Given the description of an element on the screen output the (x, y) to click on. 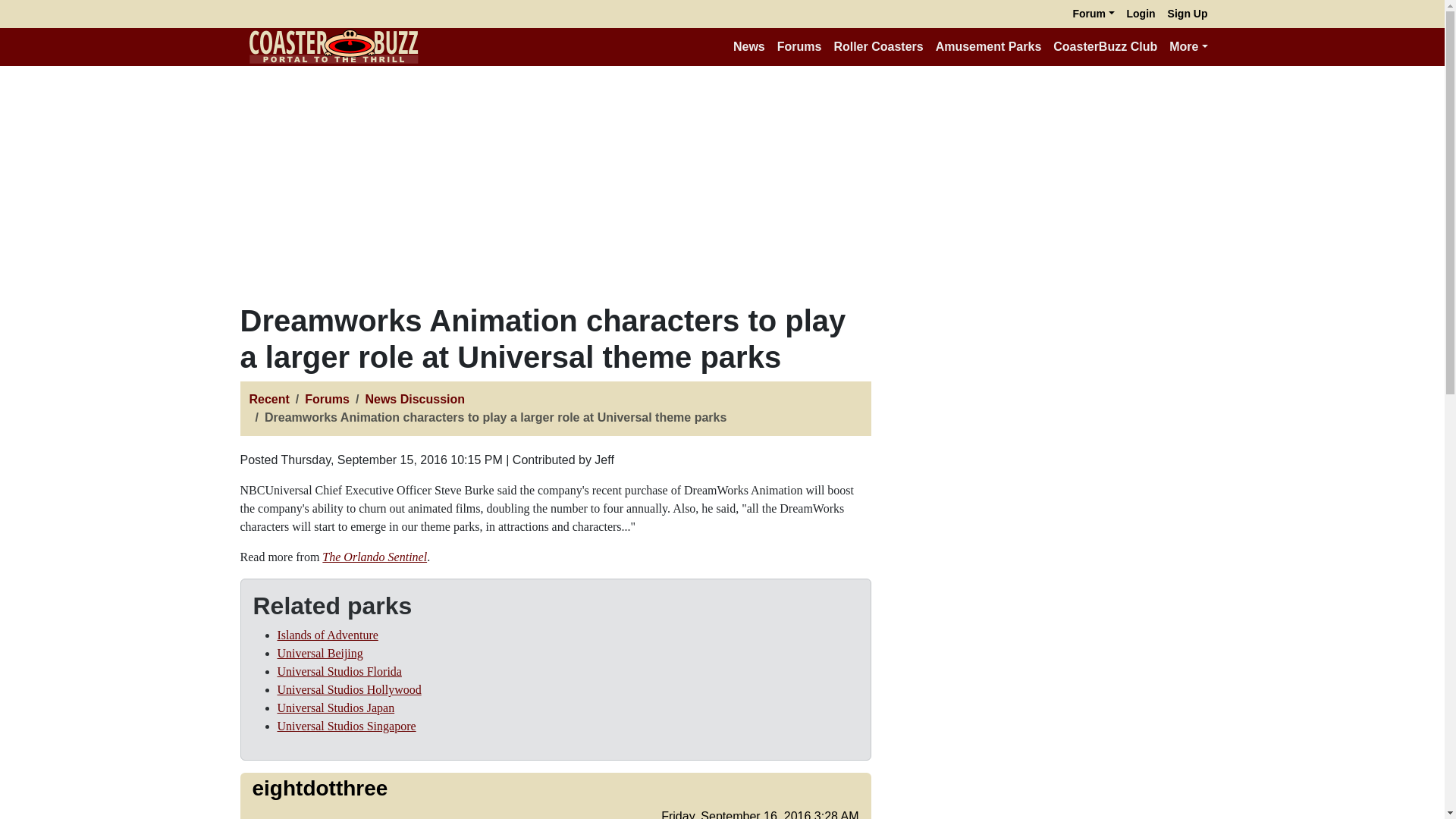
News Discussion (414, 399)
Advertisement (1055, 633)
Universal Studios Florida (339, 671)
Universal Studios Japan (336, 707)
Advertisement (1055, 408)
Login (1141, 13)
News (748, 46)
More (1187, 46)
Sign Up (1187, 13)
Recent (268, 399)
Forums (799, 46)
Universal Studios Singapore (347, 725)
Forum (1092, 13)
Roller Coasters (877, 46)
